Given the description of an element on the screen output the (x, y) to click on. 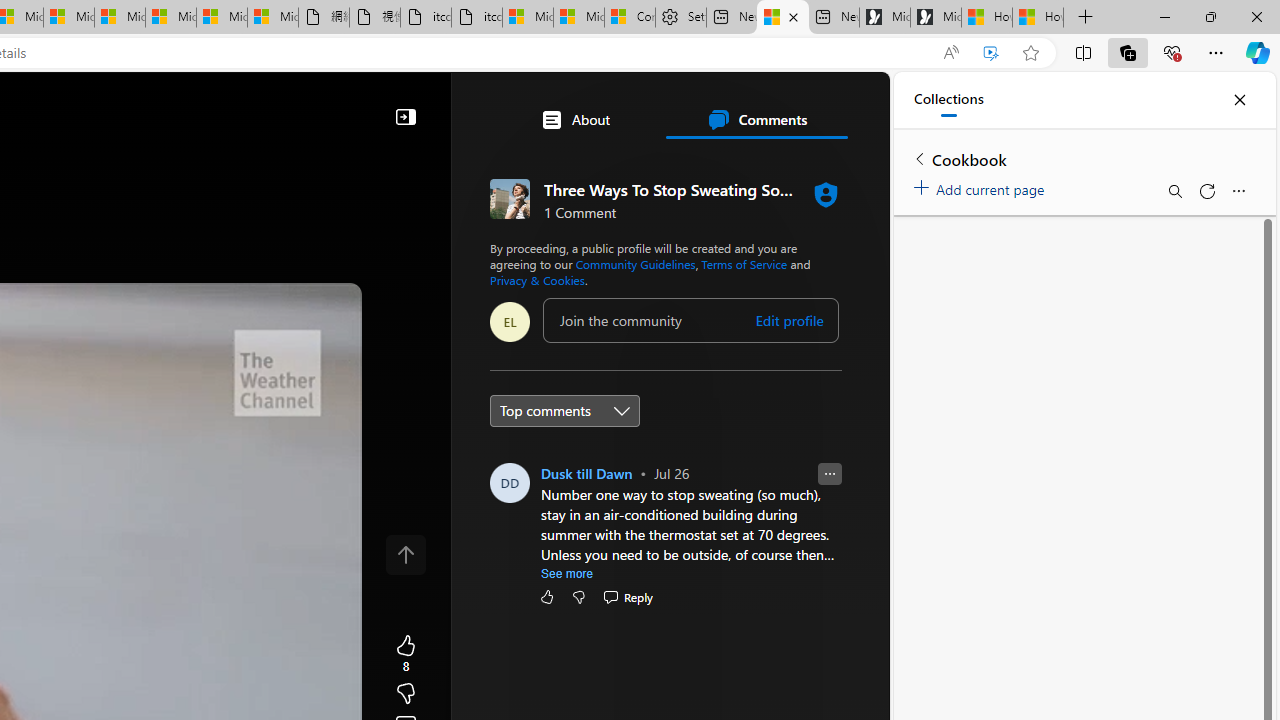
Nordace (613, 439)
Microsoft rewards (764, 105)
comment-box (690, 320)
Profile Picture (509, 482)
Open Copilot (162, 105)
8 Like (406, 653)
Open Copilot (162, 105)
About (574, 119)
Dislike (579, 596)
Microsoft account | Privacy (579, 17)
Collapse (406, 115)
To get missing image descriptions, open the context menu. (478, 162)
